Given the description of an element on the screen output the (x, y) to click on. 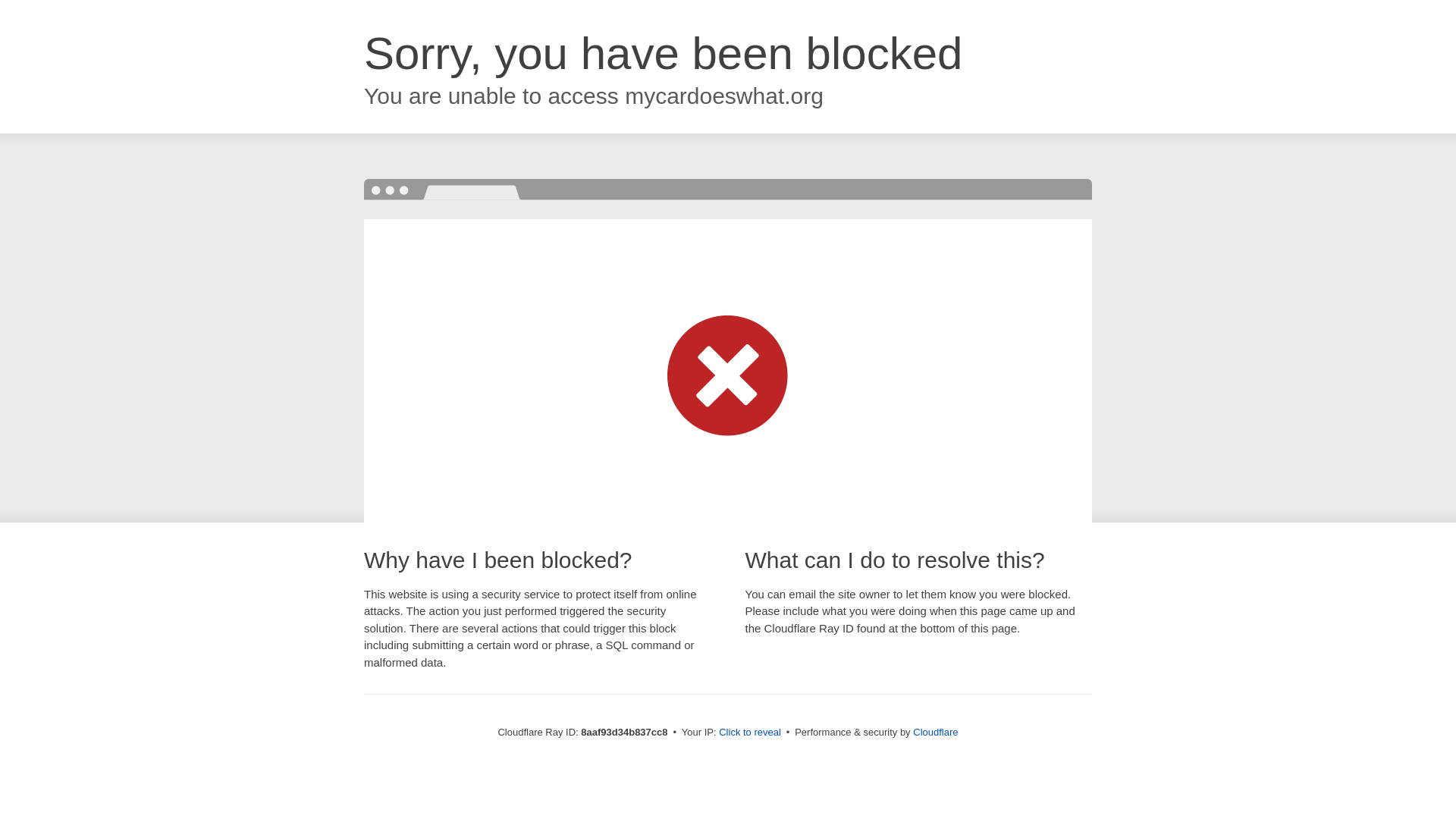
Cloudflare (935, 731)
Click to reveal (749, 732)
